Given the description of an element on the screen output the (x, y) to click on. 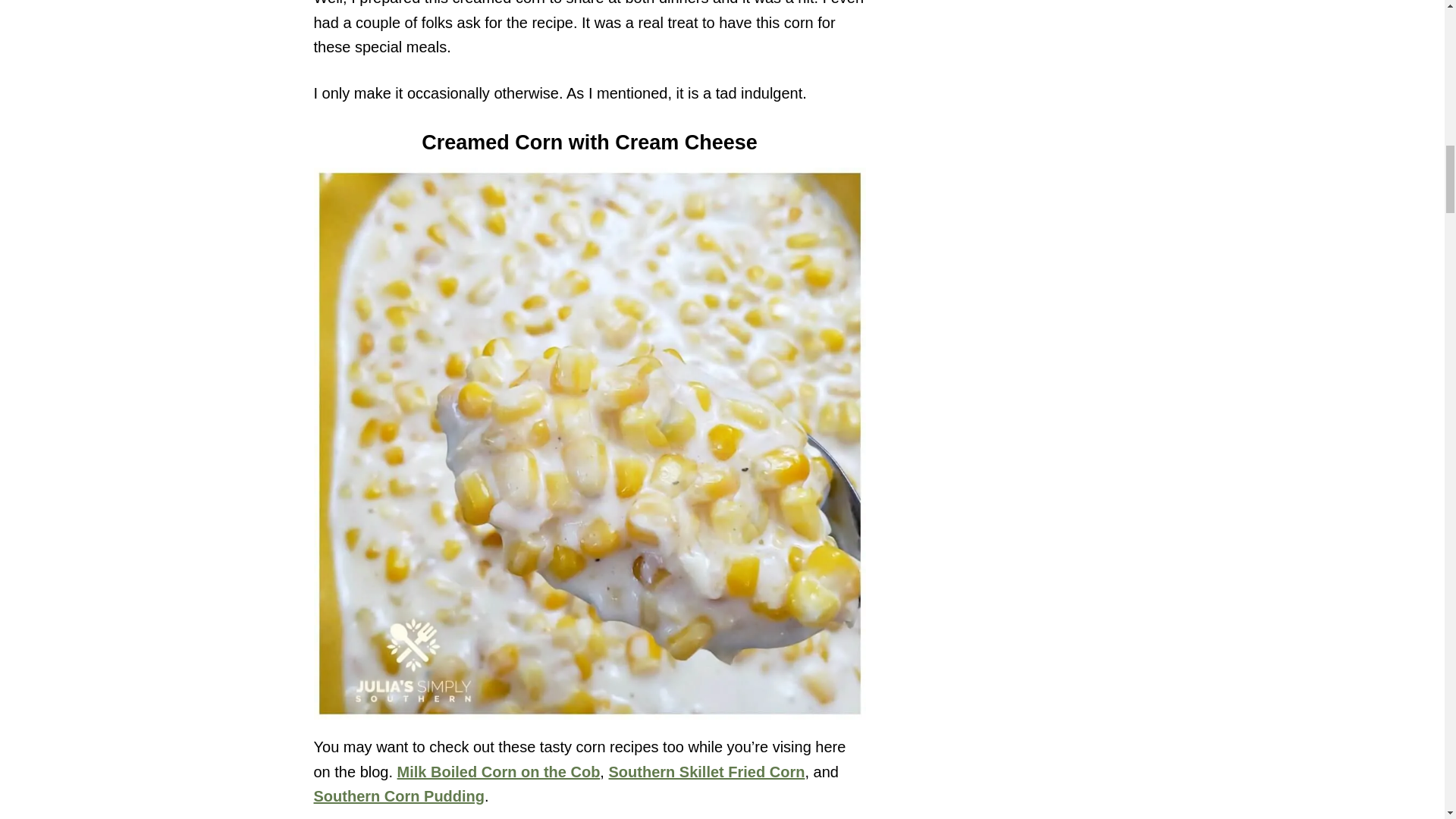
Southern Skillet Fried Corn (706, 771)
Milk Boiled Corn on the Cob (498, 771)
